Given the description of an element on the screen output the (x, y) to click on. 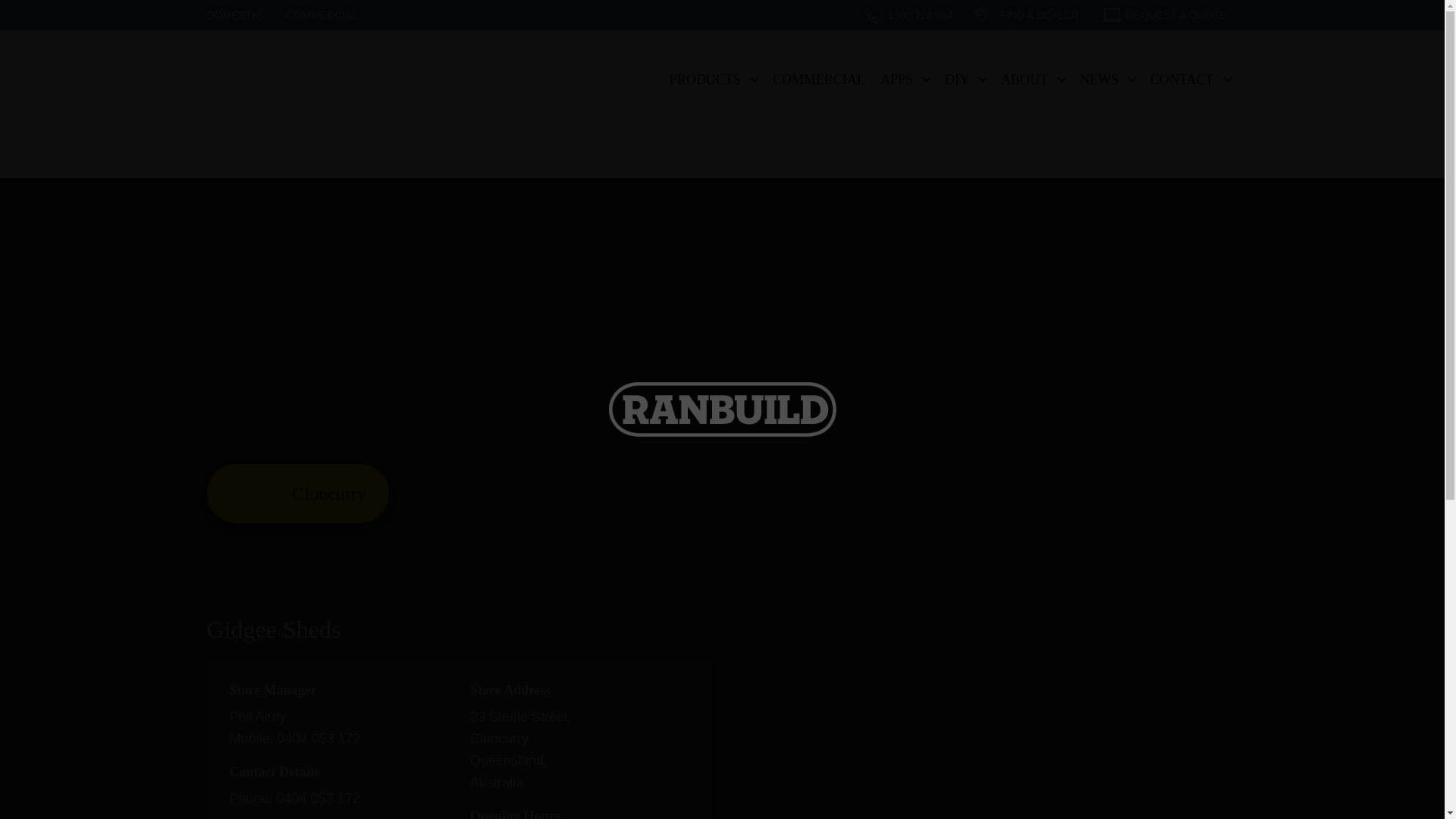
1300 726 284 (908, 15)
DOMESTIC (239, 15)
COMMERCIAL (818, 79)
REQUEST A QUOTE (1164, 15)
CONTACT (1190, 79)
FIND A DEALER (1026, 15)
PRODUCTS (713, 79)
COMMERCIAL (322, 15)
